Given the description of an element on the screen output the (x, y) to click on. 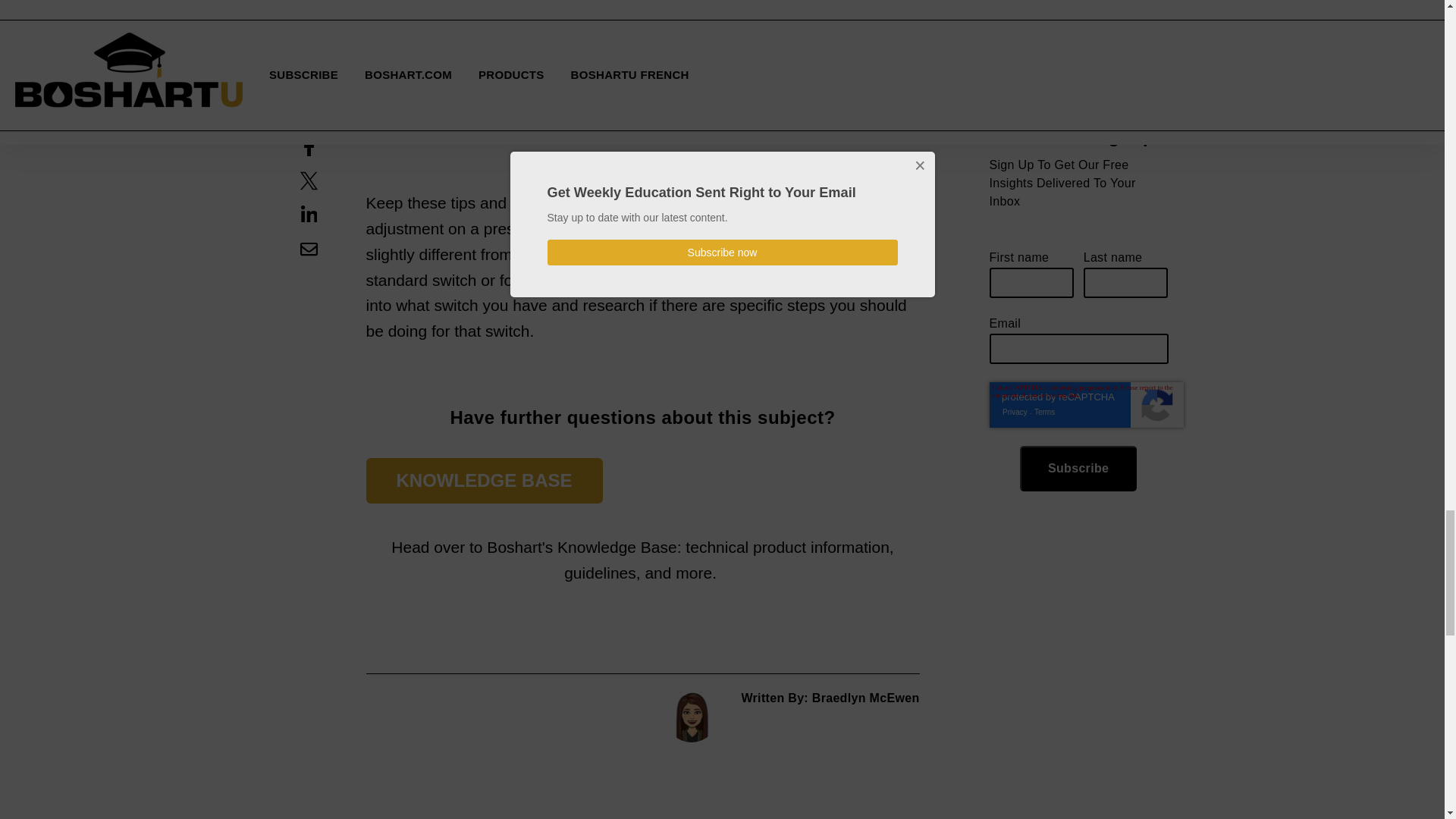
KNOWLEDGE BASE (483, 480)
KNOWLEDGE BASE (483, 480)
